Given the description of an element on the screen output the (x, y) to click on. 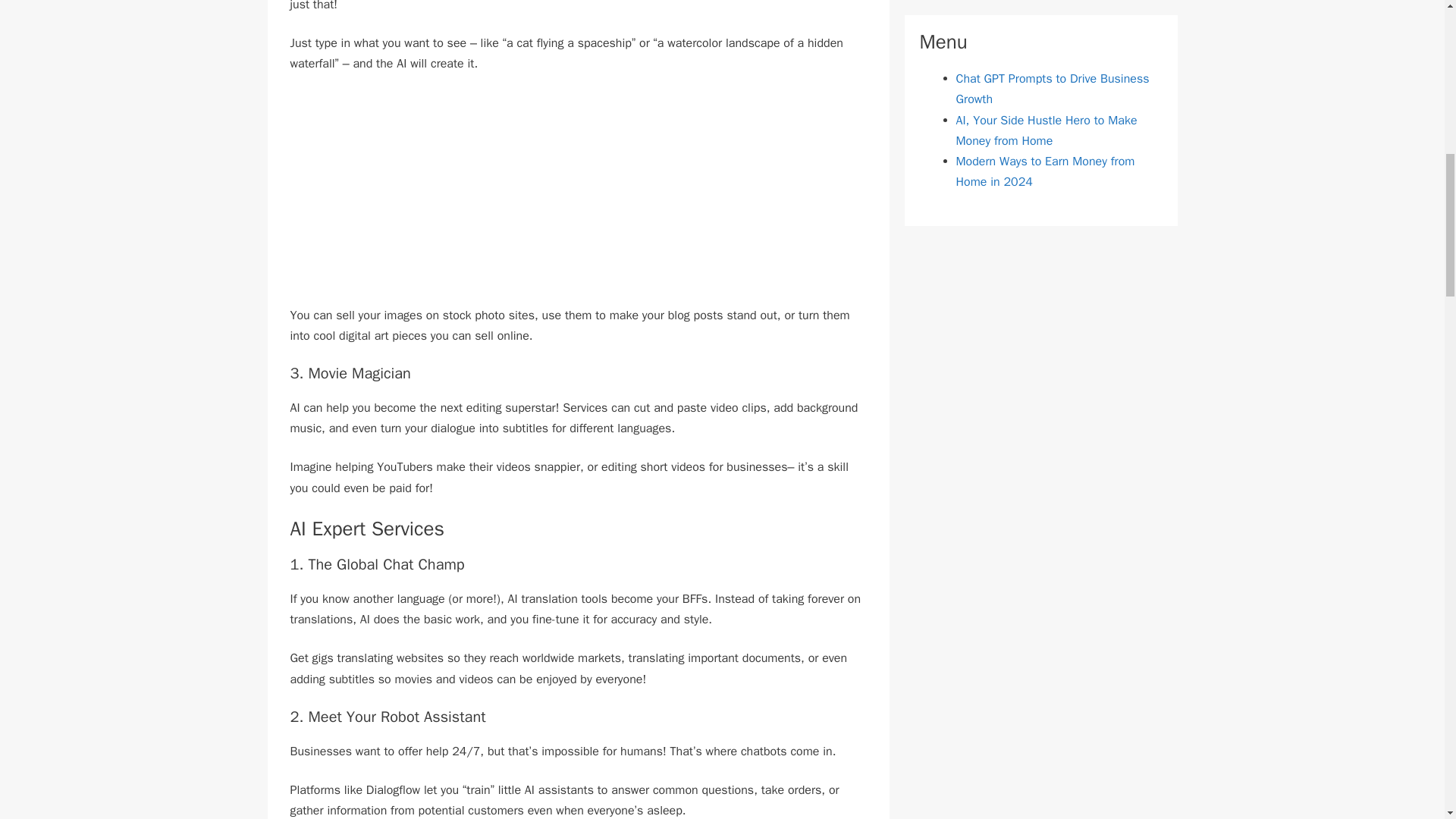
Advertisement (577, 199)
